Given the description of an element on the screen output the (x, y) to click on. 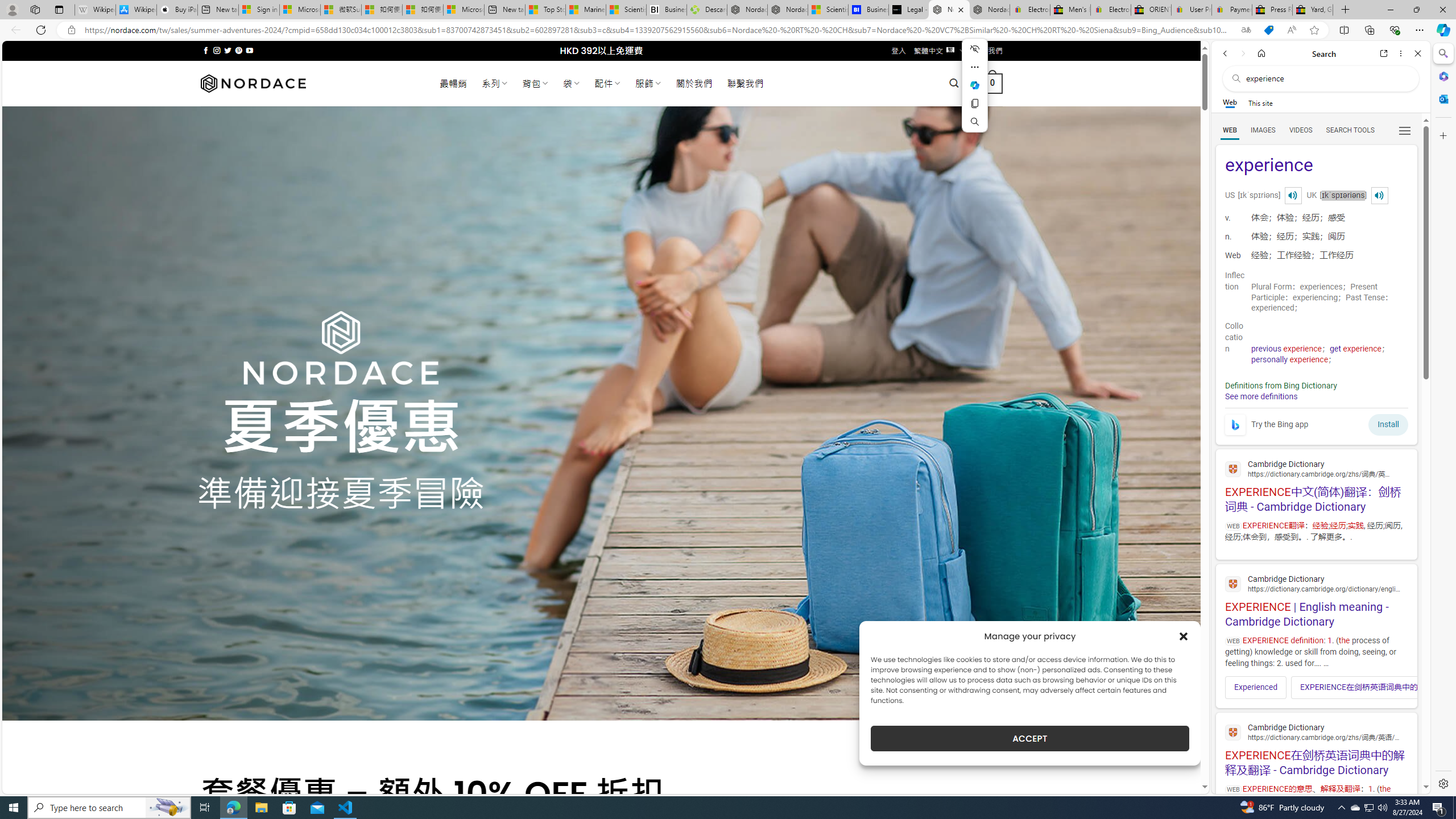
Cambridge Dictionary (1315, 731)
Class: cmplz-close (1183, 636)
